Given the description of an element on the screen output the (x, y) to click on. 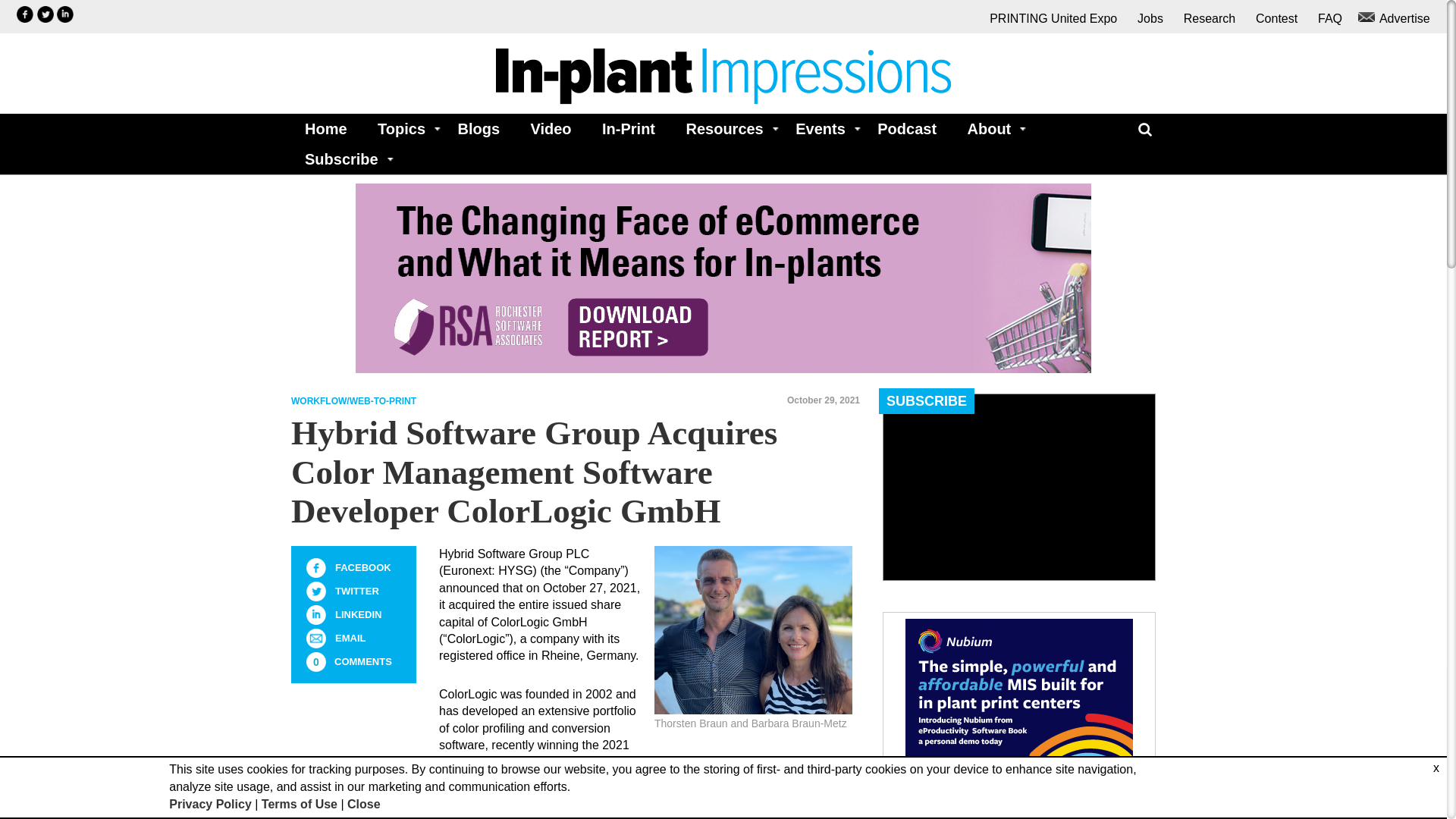
Opens in a new window (45, 13)
Twitter (315, 591)
Home (326, 128)
Opens in a new window (65, 13)
Research (1208, 18)
PRINTING United Expo (1053, 18)
Advertise (1395, 18)
3rd party ad content (1018, 713)
FAQ (1329, 18)
Jobs (1150, 18)
Opens in a new window (906, 128)
Opens in a new window (24, 13)
Video (550, 128)
Contest (1276, 18)
